Given the description of an element on the screen output the (x, y) to click on. 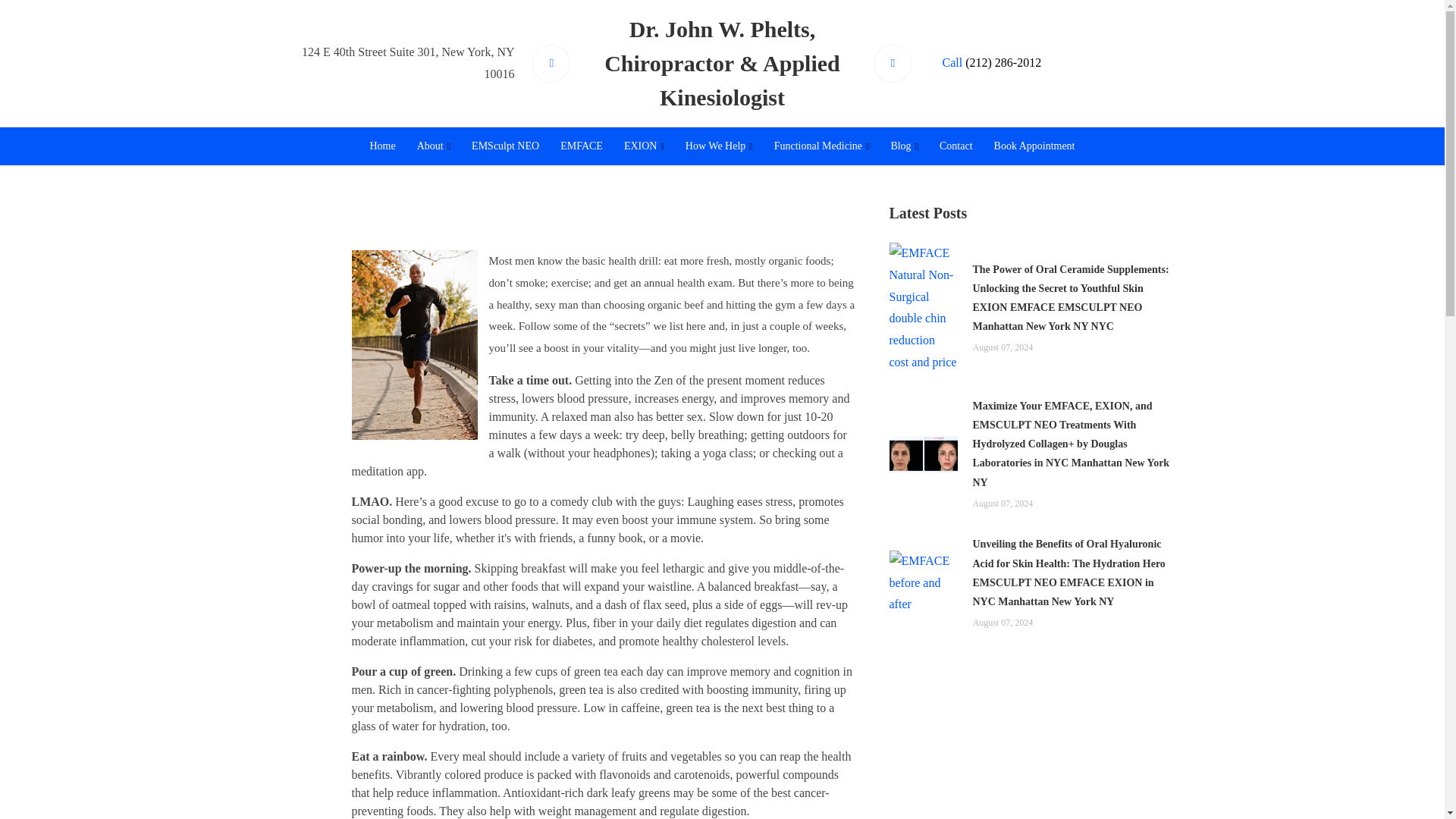
How We Help (719, 146)
EMFACE (581, 146)
EXION (643, 146)
Functional Medicine (822, 146)
Home (381, 146)
About (433, 146)
EMSculpt NEO (505, 146)
